Given the description of an element on the screen output the (x, y) to click on. 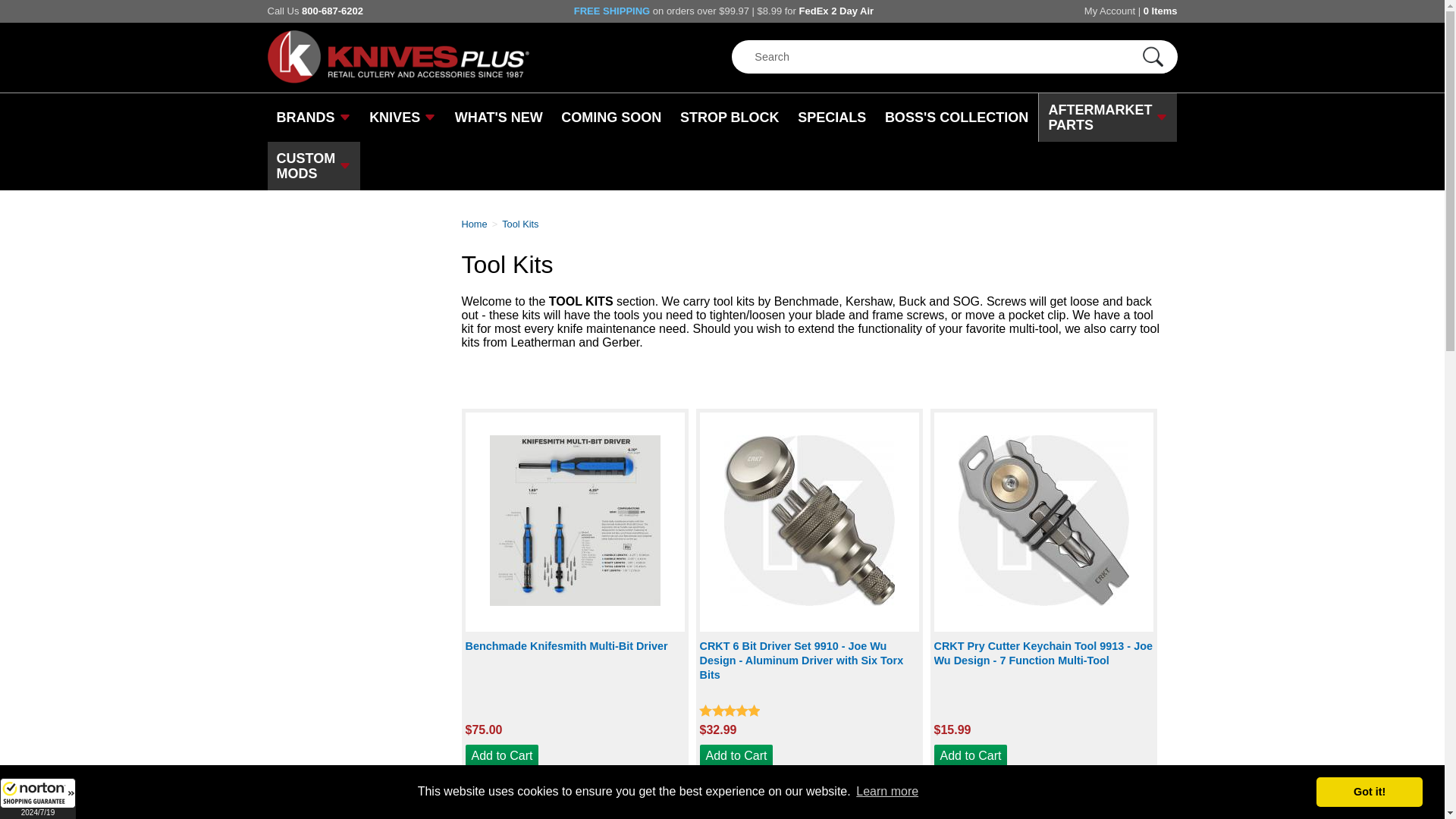
Go (1152, 58)
KNIVES (402, 117)
BRANDS (312, 117)
Tool Kits for sale - Knives Plus (522, 223)
Go (1152, 58)
Add to Cart (970, 755)
Knives Plus (397, 79)
Got it! (1369, 791)
800-687-6202 (331, 10)
My Account (1109, 10)
Unused iFrame 1 (37, 798)
Knives Plus (476, 223)
Add to Cart (501, 755)
Learn more (886, 791)
